Given the description of an element on the screen output the (x, y) to click on. 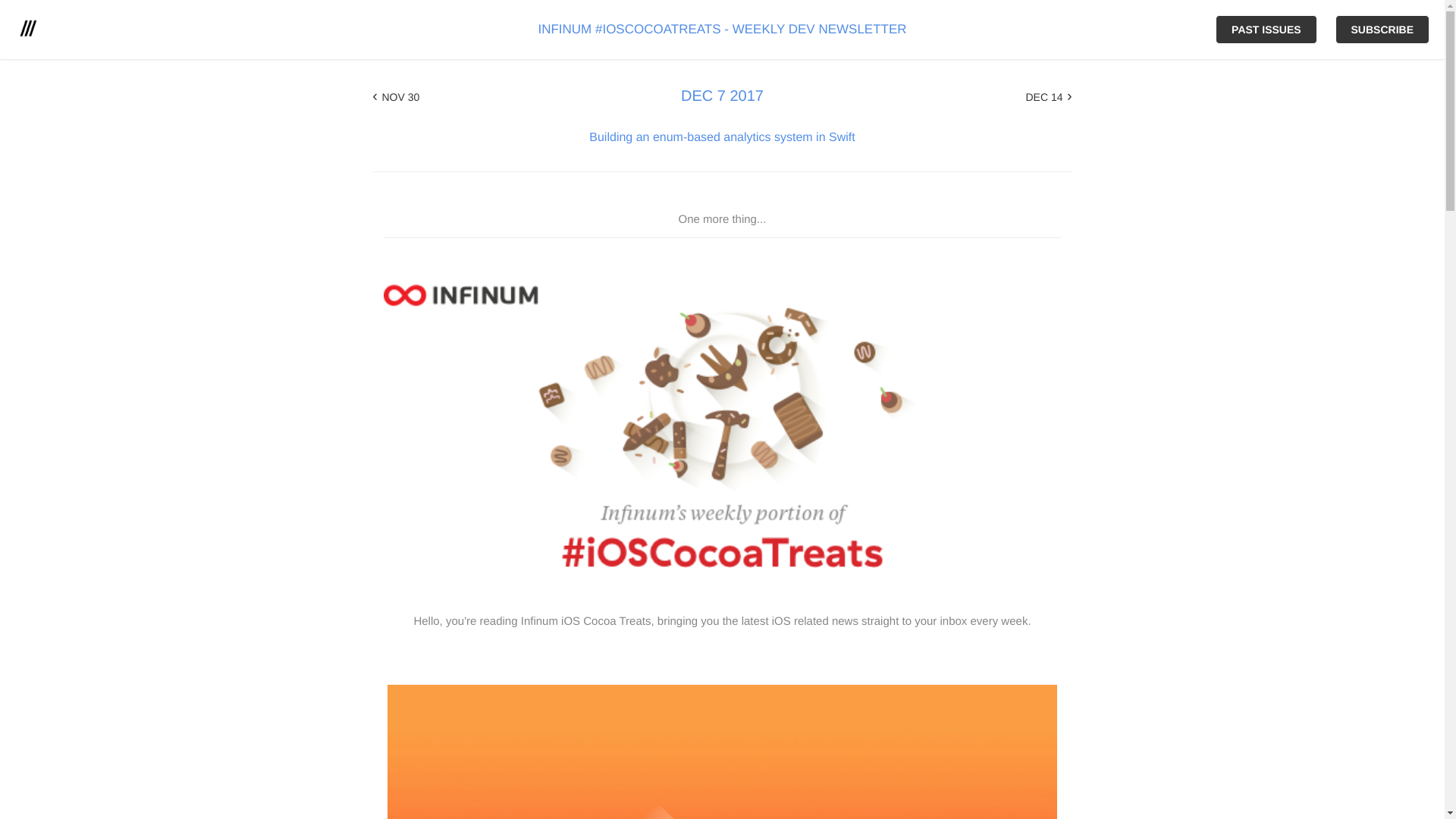
NOV 30 (395, 96)
DEC 7 2017 (721, 95)
PAST ISSUES (1266, 29)
DEC 14 (1048, 96)
Building an enum-based analytics system in Swift (721, 137)
SUBSCRIBE (1382, 29)
